Given the description of an element on the screen output the (x, y) to click on. 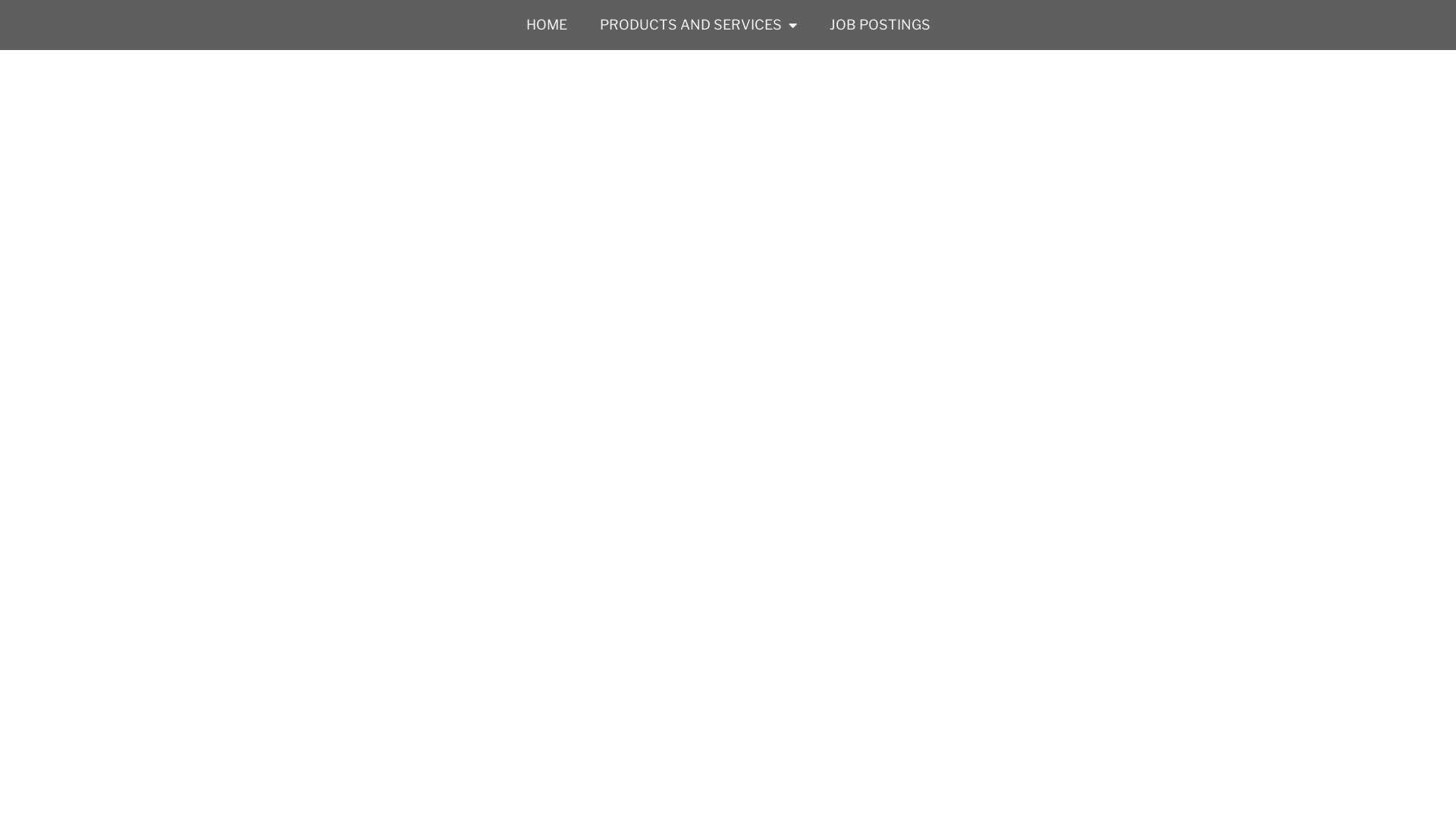
PRODUCTS AND SERVICES Element type: text (697, 24)
HOME Element type: text (546, 24)
JOB POSTINGS Element type: text (879, 24)
